Given the description of an element on the screen output the (x, y) to click on. 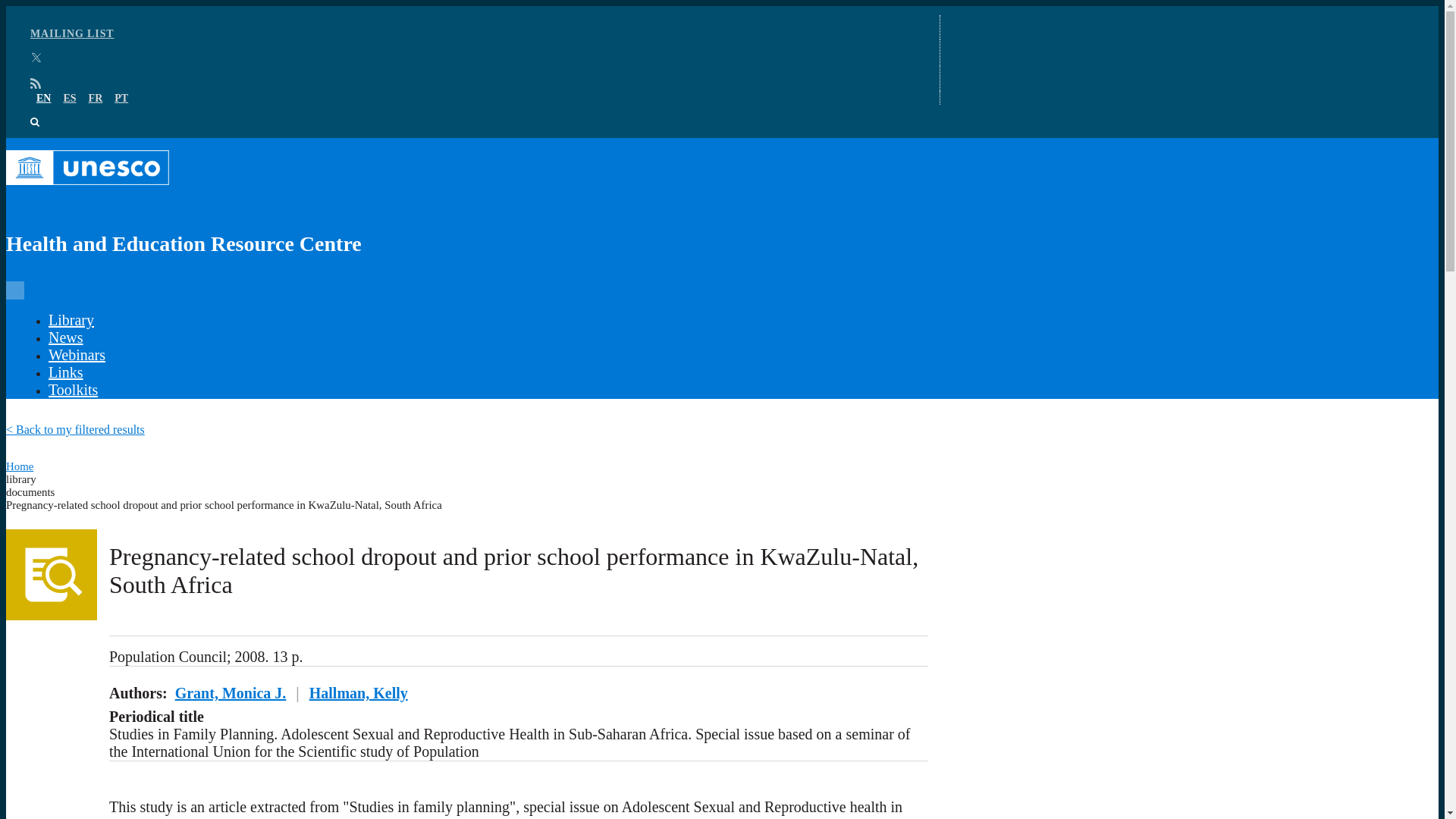
EN (43, 98)
Toolkits (72, 389)
MAILING LIST (72, 33)
FR (95, 98)
ES (68, 98)
Links (65, 371)
PT (121, 98)
Skip to main content (722, 7)
Home (19, 466)
Hallman, Kelly (357, 692)
Health and Education Resource Centre (466, 209)
Grant, Monica J. (230, 692)
Webinars (76, 354)
News (65, 337)
Library (71, 320)
